Given the description of an element on the screen output the (x, y) to click on. 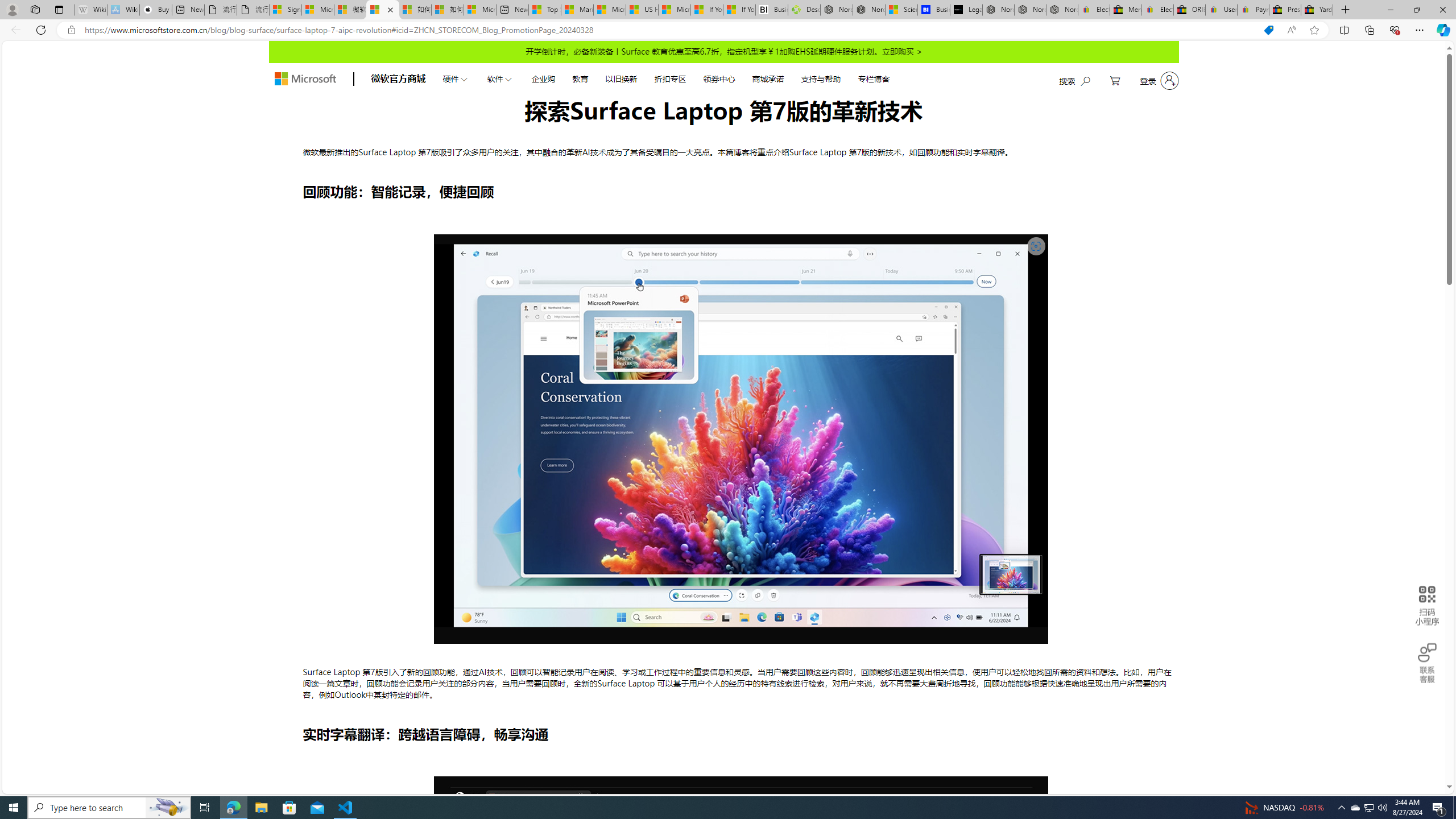
AutomationID: autoNav (665, 78)
Marine life - MSN (577, 9)
My Cart (1115, 80)
Nordace - Summer Adventures 2024 (836, 9)
store logo (304, 78)
